Given the description of an element on the screen output the (x, y) to click on. 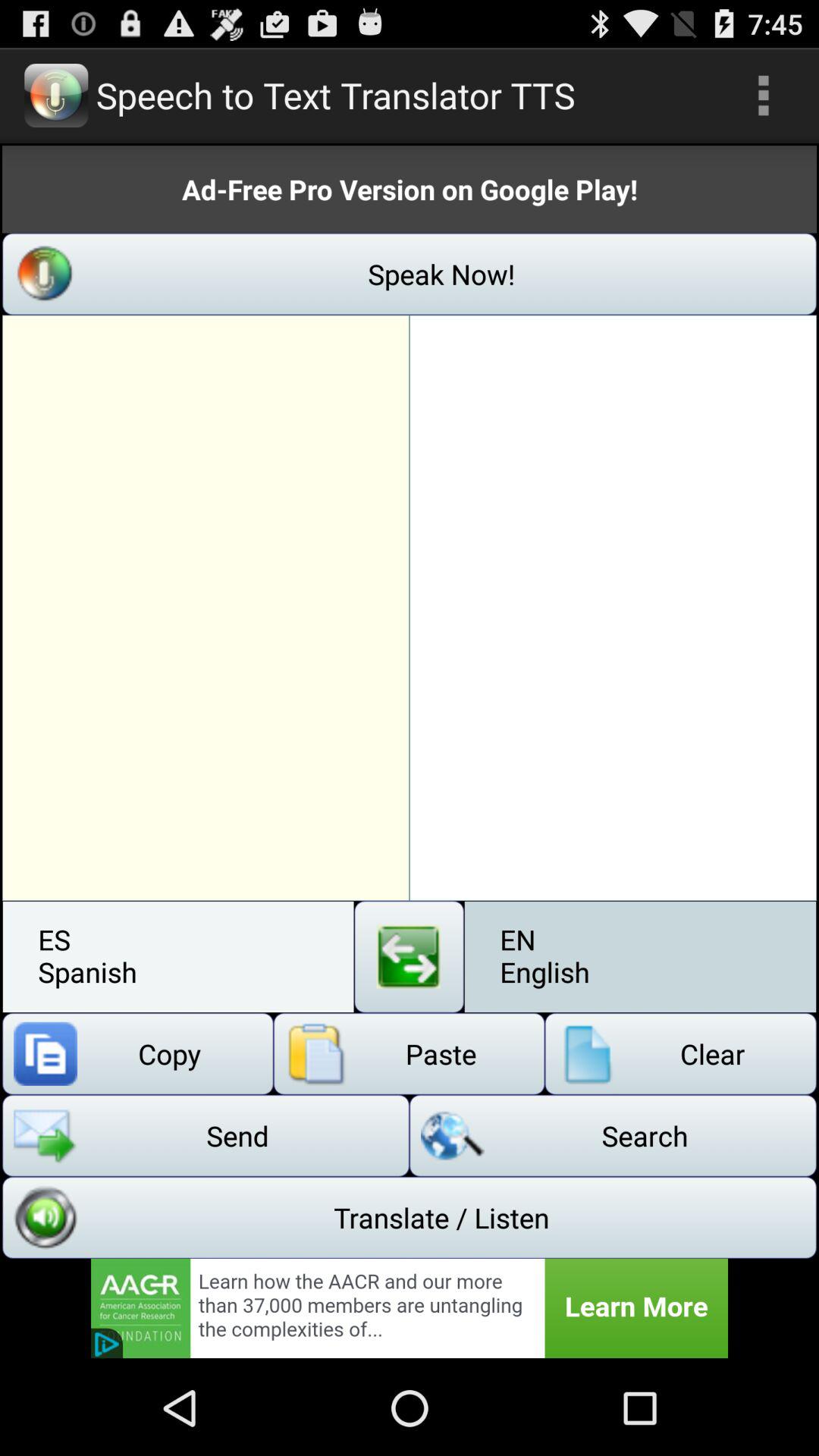
swap button or translate (409, 956)
